Given the description of an element on the screen output the (x, y) to click on. 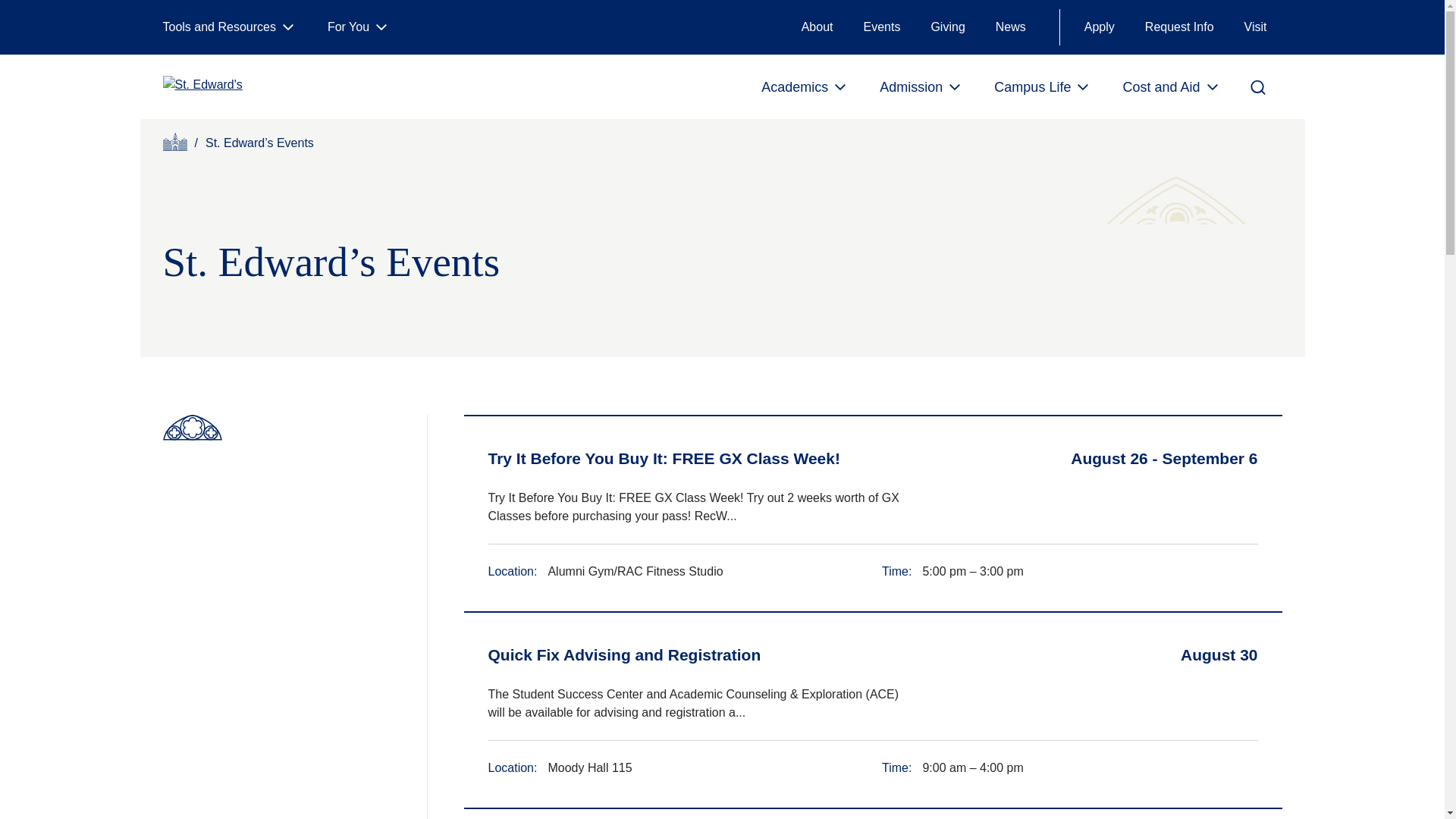
Academics (804, 86)
Request Info (1178, 27)
For You (358, 27)
About (817, 27)
Skip to main content (69, 18)
Visit (1255, 27)
News (1010, 27)
Tools and Resources (229, 27)
Events (881, 27)
Giving (947, 27)
